Given the description of an element on the screen output the (x, y) to click on. 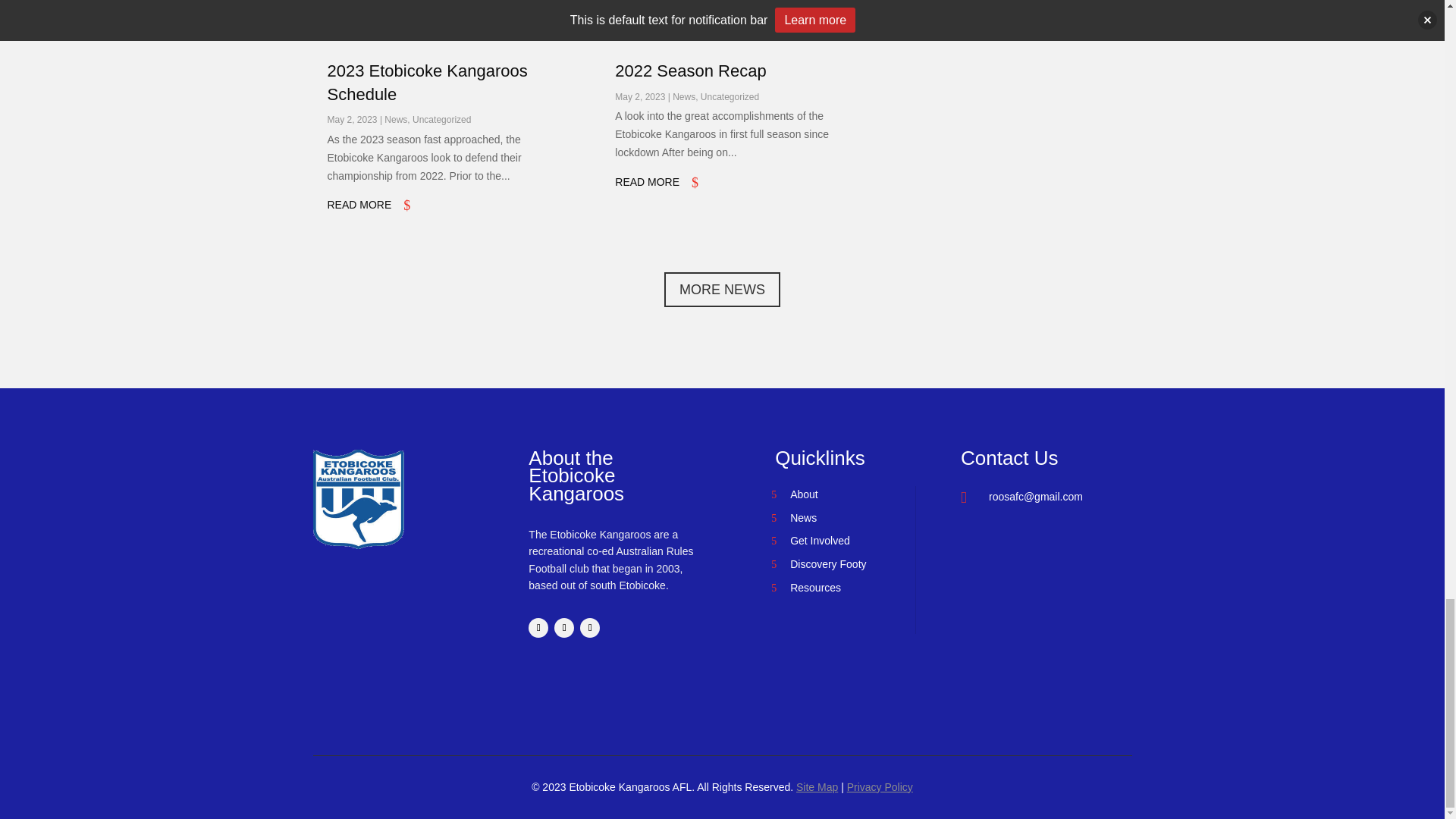
Uncategorized (729, 96)
READ MORE (359, 205)
News (395, 119)
READ MORE (646, 182)
MORE NEWS (721, 288)
Follow on X (589, 628)
Follow on Instagram (563, 628)
Follow on Facebook (538, 628)
Uncategorized (441, 119)
News (683, 96)
2023 Etobicoke Kangaroos Schedule (427, 82)
2022 Season Recap (689, 70)
